Given the description of an element on the screen output the (x, y) to click on. 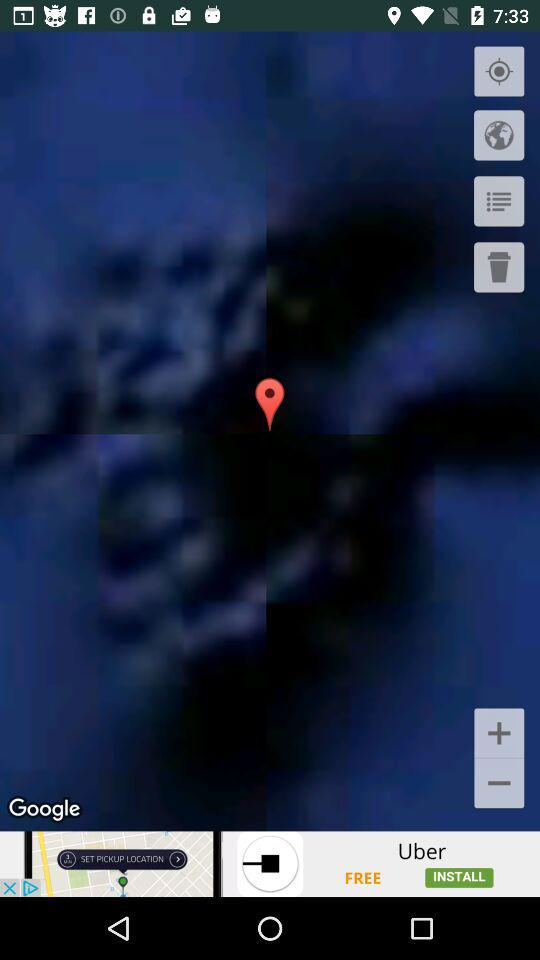
upload the particular app (270, 864)
